Given the description of an element on the screen output the (x, y) to click on. 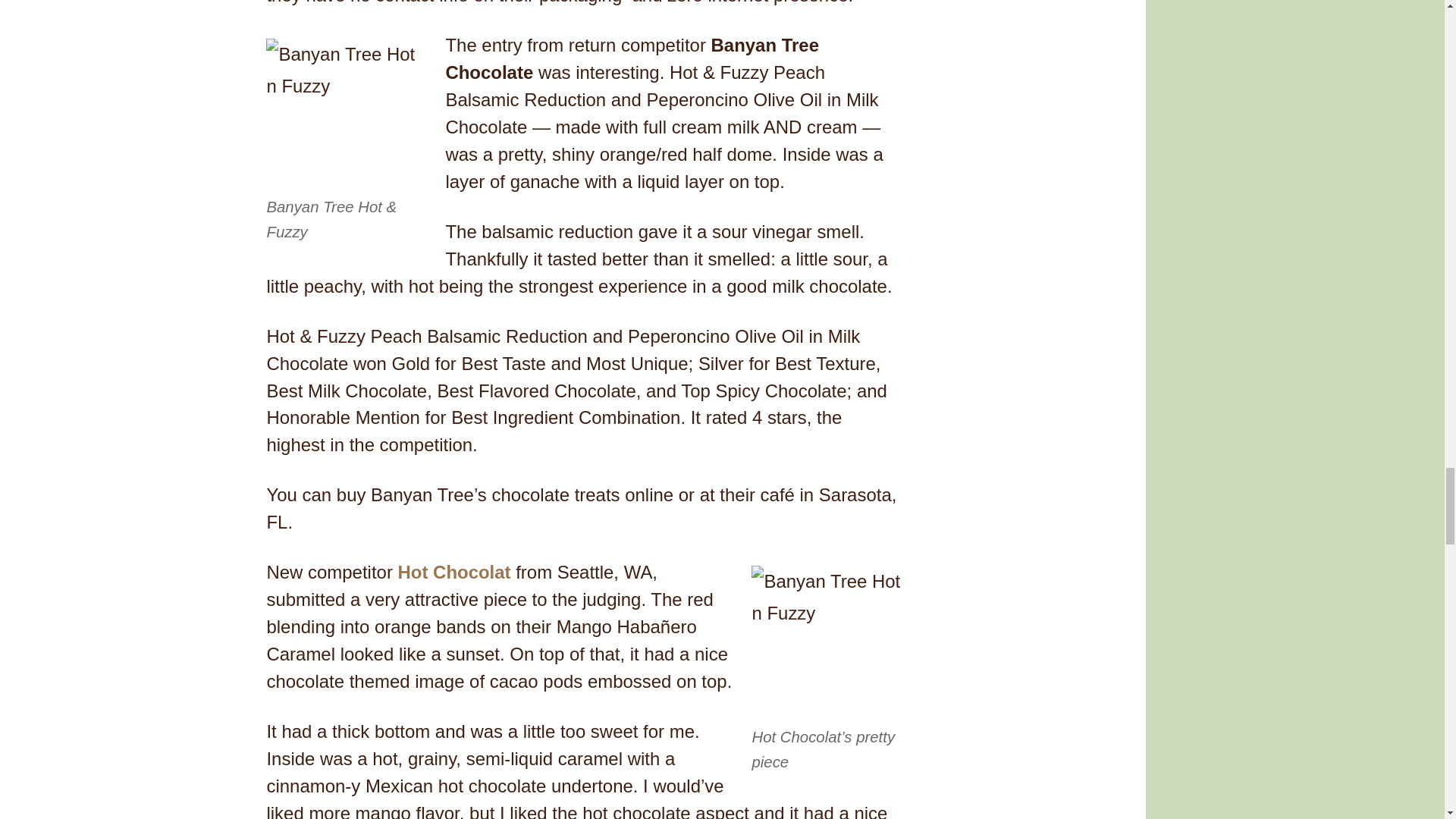
Hot Chocolat (454, 571)
